Given the description of an element on the screen output the (x, y) to click on. 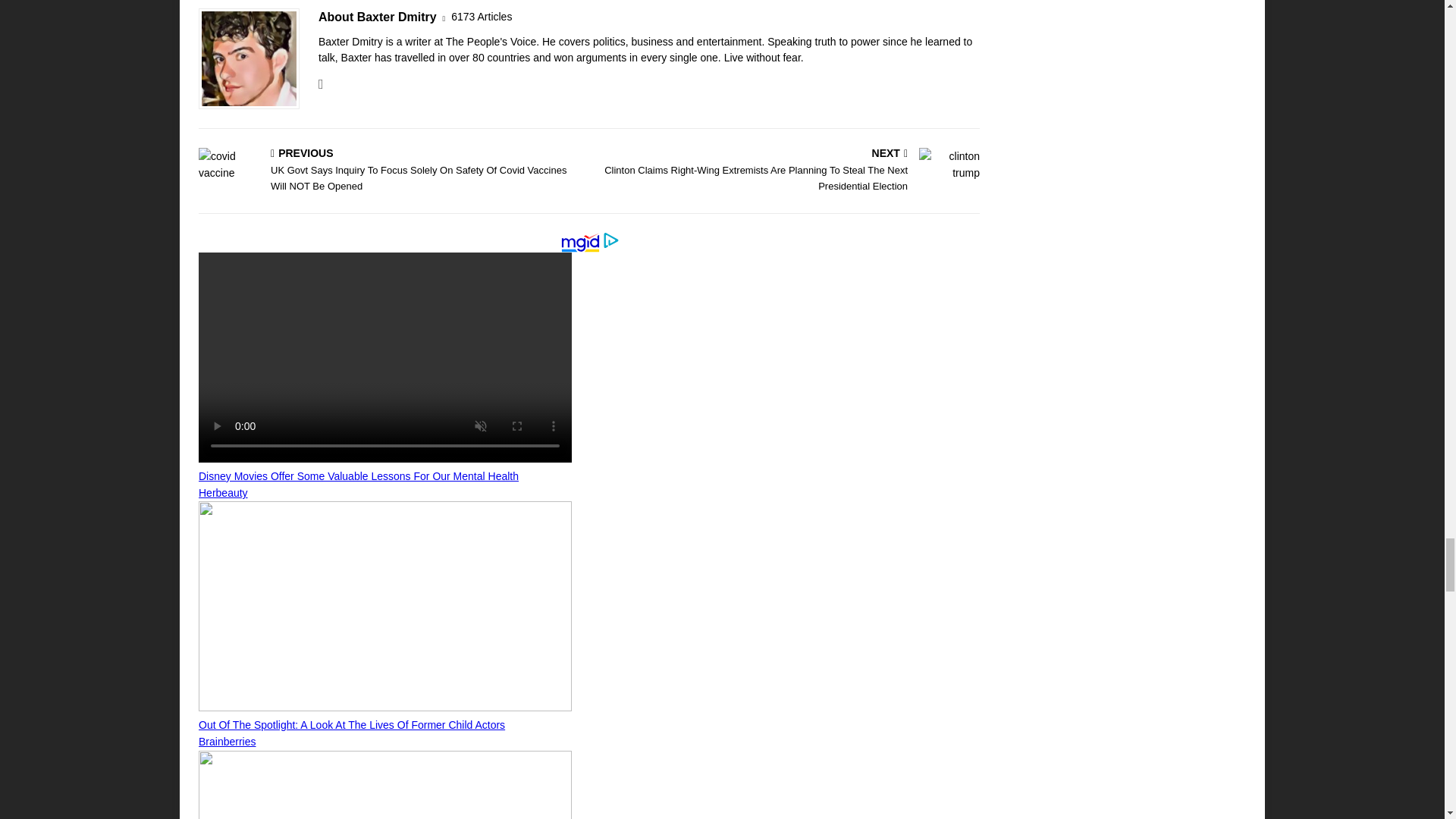
Follow Baxter Dmitry on Twitter (320, 83)
More articles written by Baxter Dmitry' (481, 17)
